Given the description of an element on the screen output the (x, y) to click on. 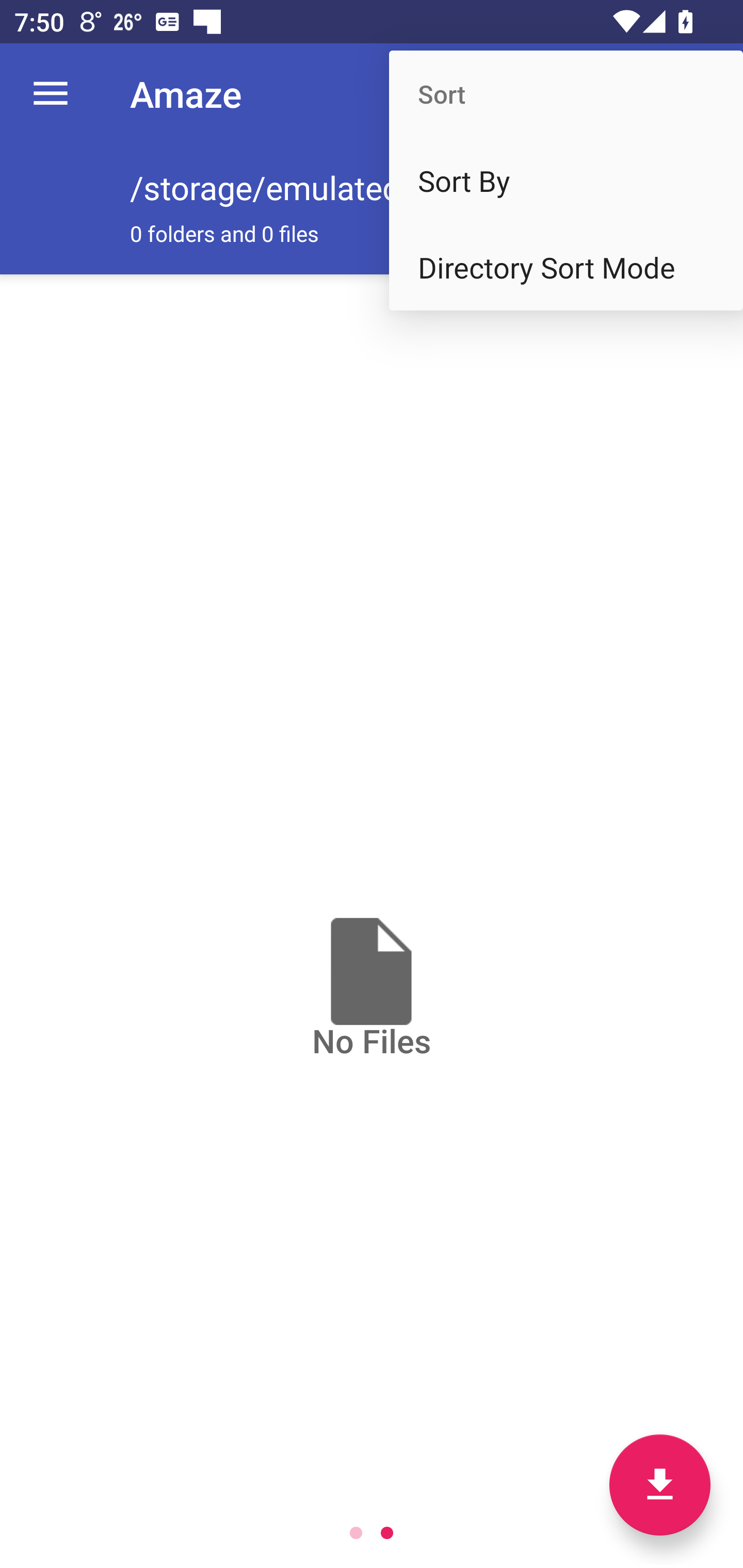
Sort By (566, 180)
Directory Sort Mode (566, 267)
